Given the description of an element on the screen output the (x, y) to click on. 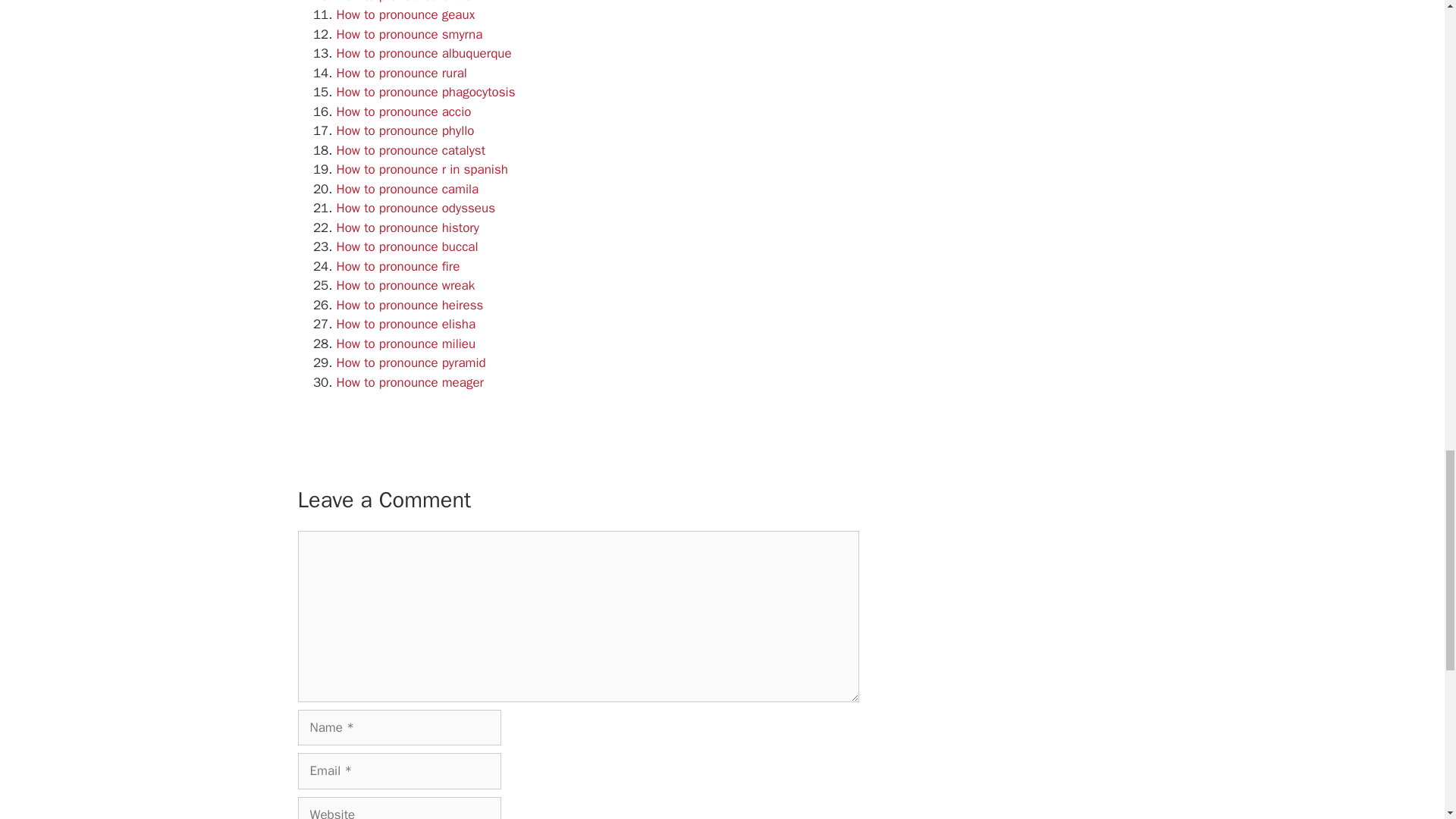
How to pronounce phyllo (405, 130)
How to pronounce camila (407, 188)
How to pronounce geaux (406, 14)
How to pronounce chide (403, 2)
How to pronounce odysseus (415, 207)
How to pronounce accio (403, 111)
How to pronounce rural (401, 73)
How to pronounce catalyst (411, 150)
How to pronounce phagocytosis (425, 91)
How to pronounce r in spanish (422, 169)
